Given the description of an element on the screen output the (x, y) to click on. 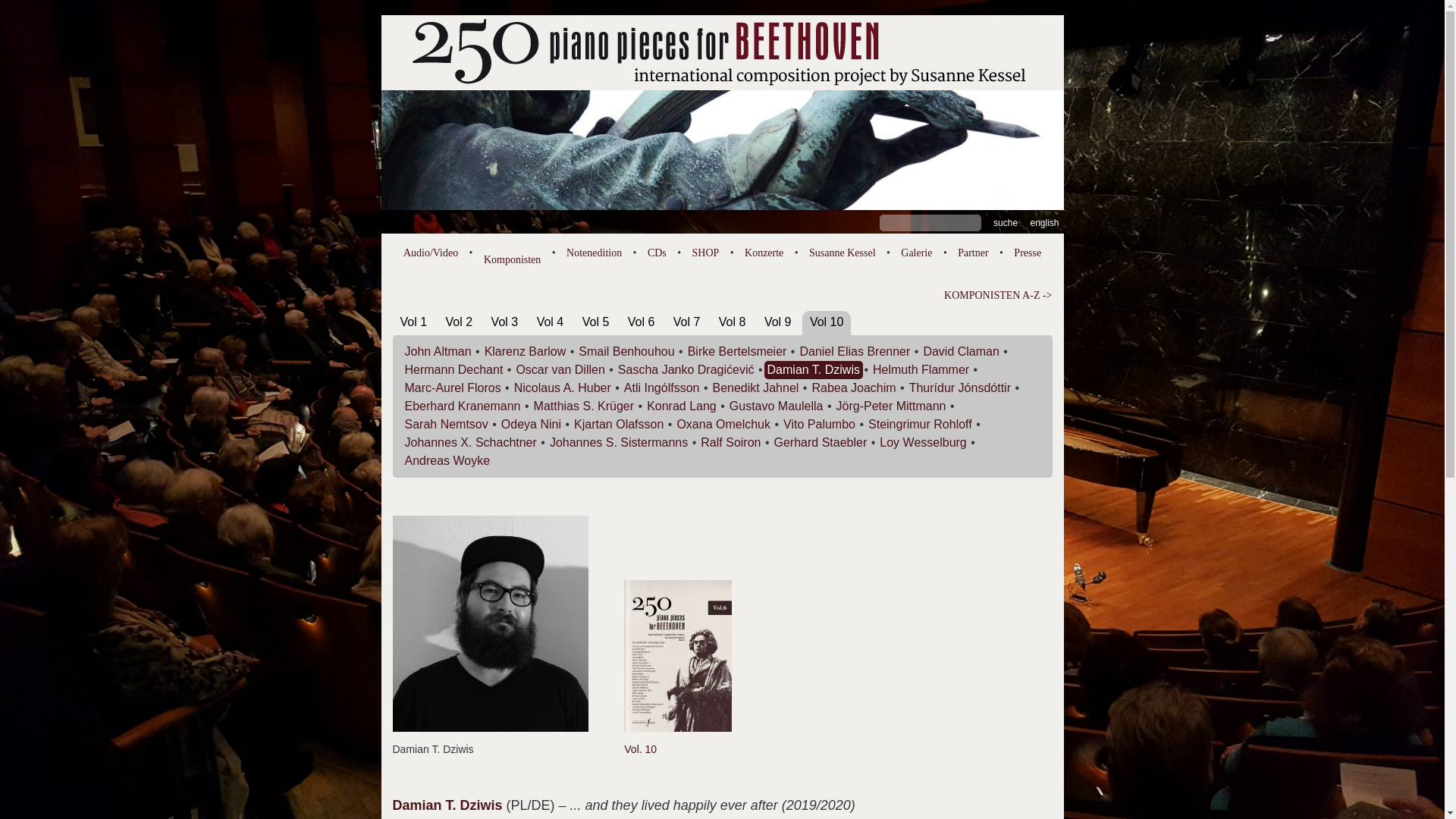
Benedikt Jahnel Element type: text (755, 387)
Johannes X. Schachtner Element type: text (470, 442)
Vol. 10 Element type: text (677, 740)
Susanne Kessel Element type: text (842, 252)
Andreas Woyke Element type: text (447, 460)
David Claman Element type: text (960, 351)
KOMPONISTEN A-Z -> Element type: text (722, 295)
Vol 10 Element type: text (826, 321)
Vol 7 Element type: text (686, 321)
Eberhard Kranemann Element type: text (462, 405)
Konzerte Element type: text (763, 252)
Gerhard Staebler Element type: text (820, 442)
John Altman Element type: text (437, 351)
Vito Palumbo Element type: text (819, 423)
Ralf Soiron Element type: text (730, 442)
Sarah Nemtsov Element type: text (446, 423)
Hermann Dechant Element type: text (453, 369)
CDs Element type: text (656, 252)
Presse Element type: text (1027, 252)
Johannes S. Sistermanns Element type: text (618, 442)
Odeya Nini Element type: text (531, 423)
Smail Benhouhou Element type: text (626, 351)
Steingrimur Rohloff Element type: text (920, 423)
Rabea Joachim Element type: text (853, 387)
Konrad Lang Element type: text (681, 405)
Skip to content Element type: text (380, 15)
Galerie Element type: text (915, 252)
Daniel Elias Brenner Element type: text (854, 351)
Vol 3 Element type: text (504, 321)
english Element type: text (1043, 222)
Vol 9 Element type: text (777, 321)
Partner Element type: text (972, 252)
Gustavo Maulella Element type: text (776, 405)
Klarenz Barlow Element type: text (525, 351)
Vol 5 Element type: text (595, 321)
Marc-Aurel Floros Element type: text (452, 387)
Suche Element type: text (1005, 222)
Vol 6 Element type: text (641, 321)
Vol 1 Element type: text (413, 321)
Audio/Video Element type: text (430, 252)
Vol 8 Element type: text (732, 321)
Kjartan Olafsson Element type: text (618, 423)
Vol 4 Element type: text (550, 321)
Nicolaus A. Huber Element type: text (562, 387)
Damian T. Dziwis Element type: text (813, 369)
SHOP Element type: text (705, 252)
Birke Bertelsmeier Element type: text (737, 351)
Notenedition Element type: text (593, 252)
Helmuth Flammer Element type: text (920, 369)
Komponisten Element type: text (511, 255)
Vol 2 Element type: text (459, 321)
Loy Wesselburg Element type: text (922, 442)
Oscar van Dillen Element type: text (559, 369)
Oxana Omelchuk Element type: text (723, 423)
